Given the description of an element on the screen output the (x, y) to click on. 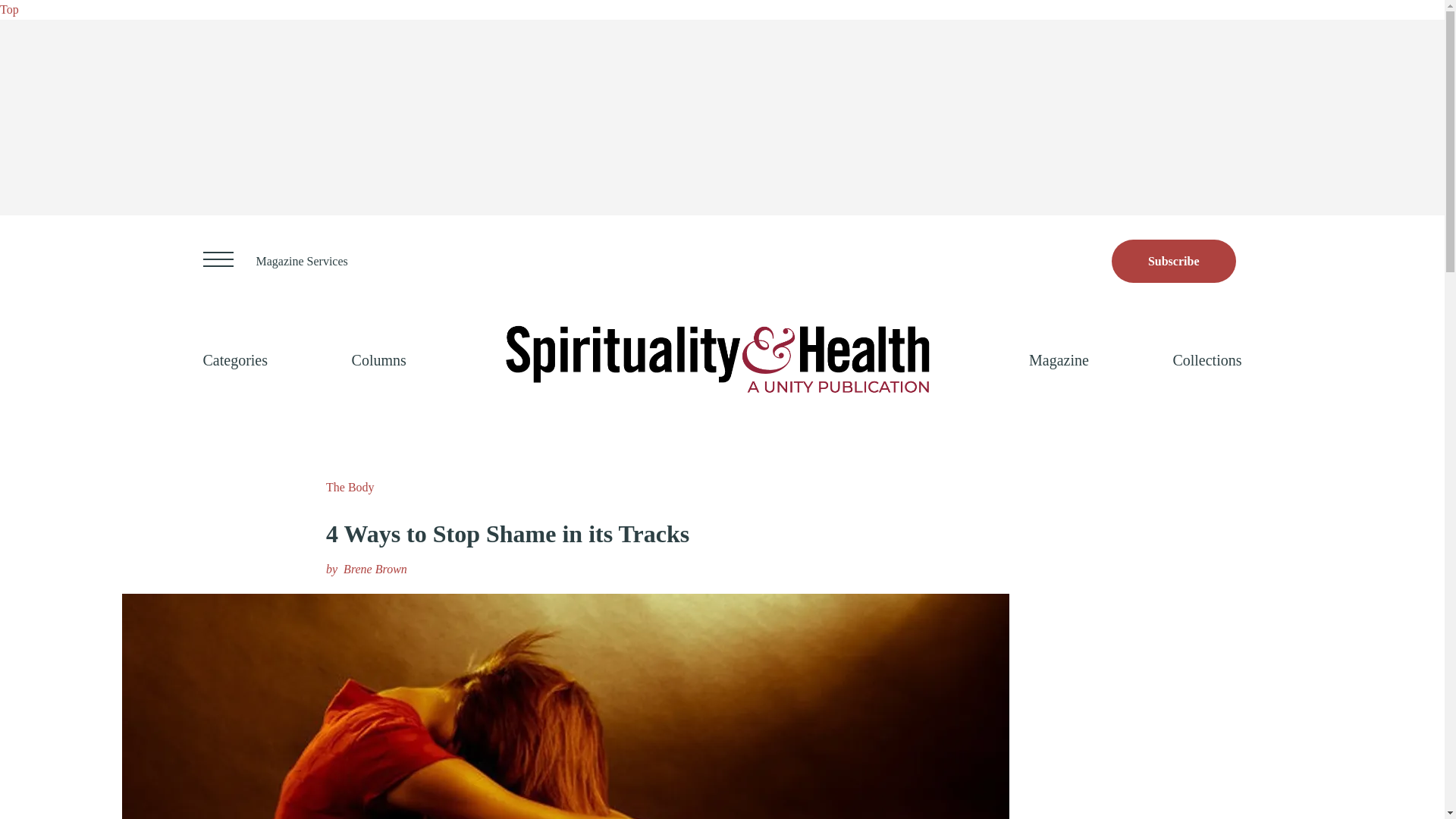
Categories (235, 359)
Collections (1206, 359)
Subscribe (1174, 261)
Magazine Services (301, 260)
Magazine (1059, 359)
Top (9, 9)
Columns (379, 359)
Opens to Store site (1174, 261)
